Given the description of an element on the screen output the (x, y) to click on. 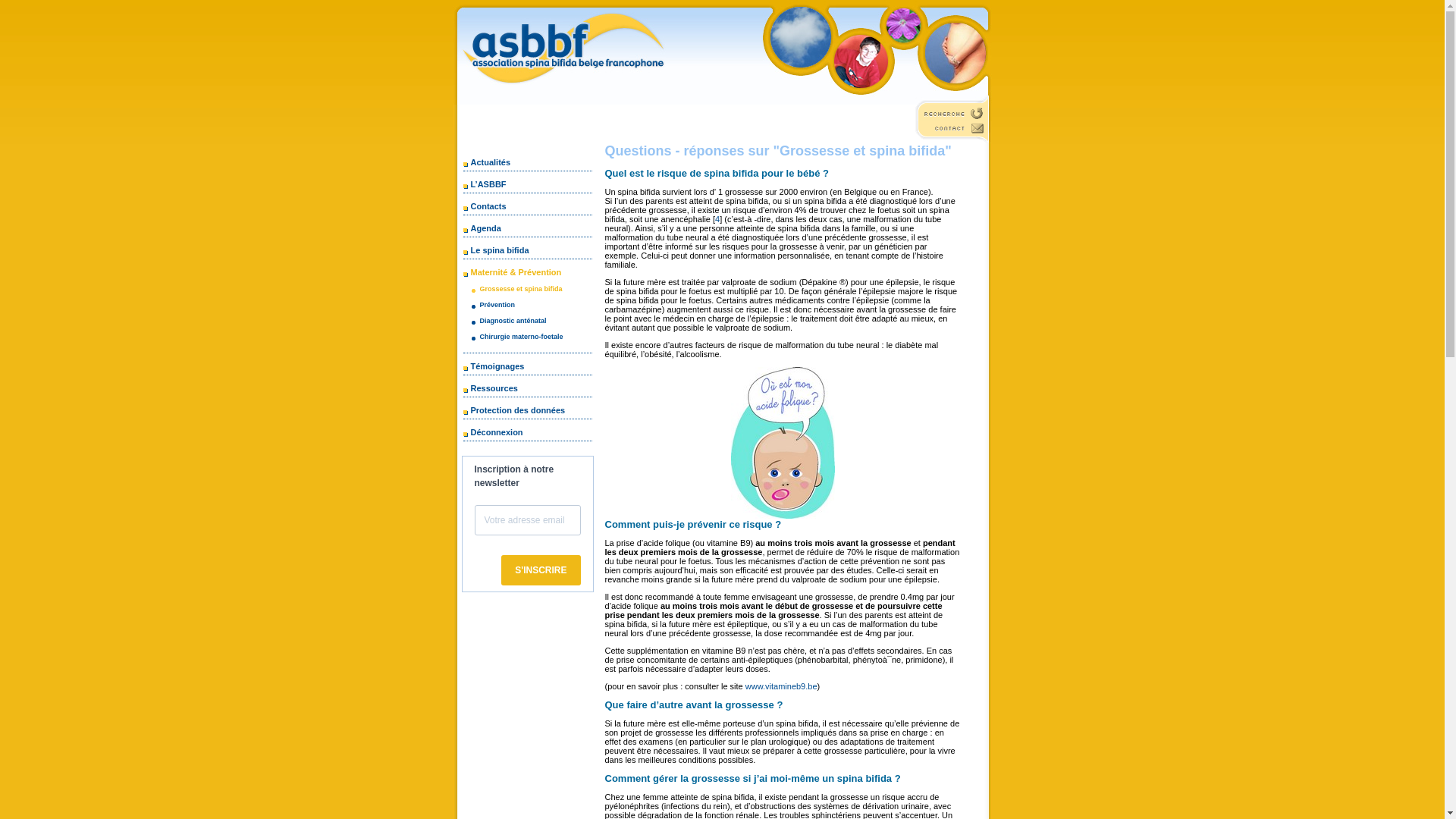
Contacts Element type: text (485, 206)
recherche Element type: hover (952, 112)
Grossesse et spina bifida Element type: text (515, 288)
www.vitamineb9.be Element type: text (781, 685)
Chirurgie materno-foetale Element type: text (516, 336)
4 Element type: text (717, 218)
Ressources Element type: text (490, 388)
S'INSCRIRE Element type: text (540, 570)
Agenda Element type: text (482, 228)
contact Element type: hover (952, 132)
Le spina bifida Element type: text (496, 250)
